Given the description of an element on the screen output the (x, y) to click on. 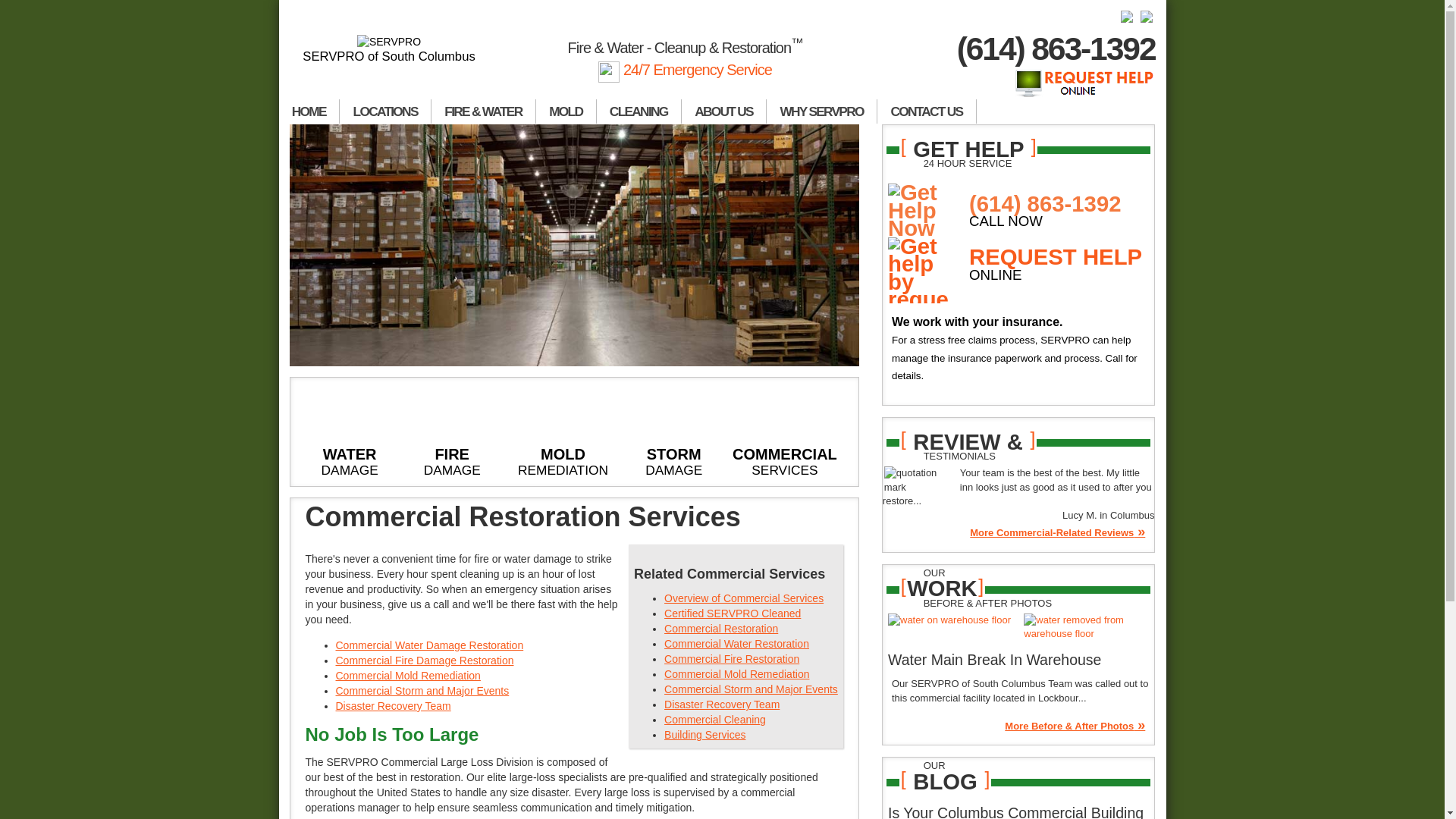
ABOUT US (724, 111)
LOCATIONS (384, 111)
HOME (309, 111)
SERVPRO of South Columbus (389, 49)
MOLD (565, 111)
CLEANING (638, 111)
